Given the description of an element on the screen output the (x, y) to click on. 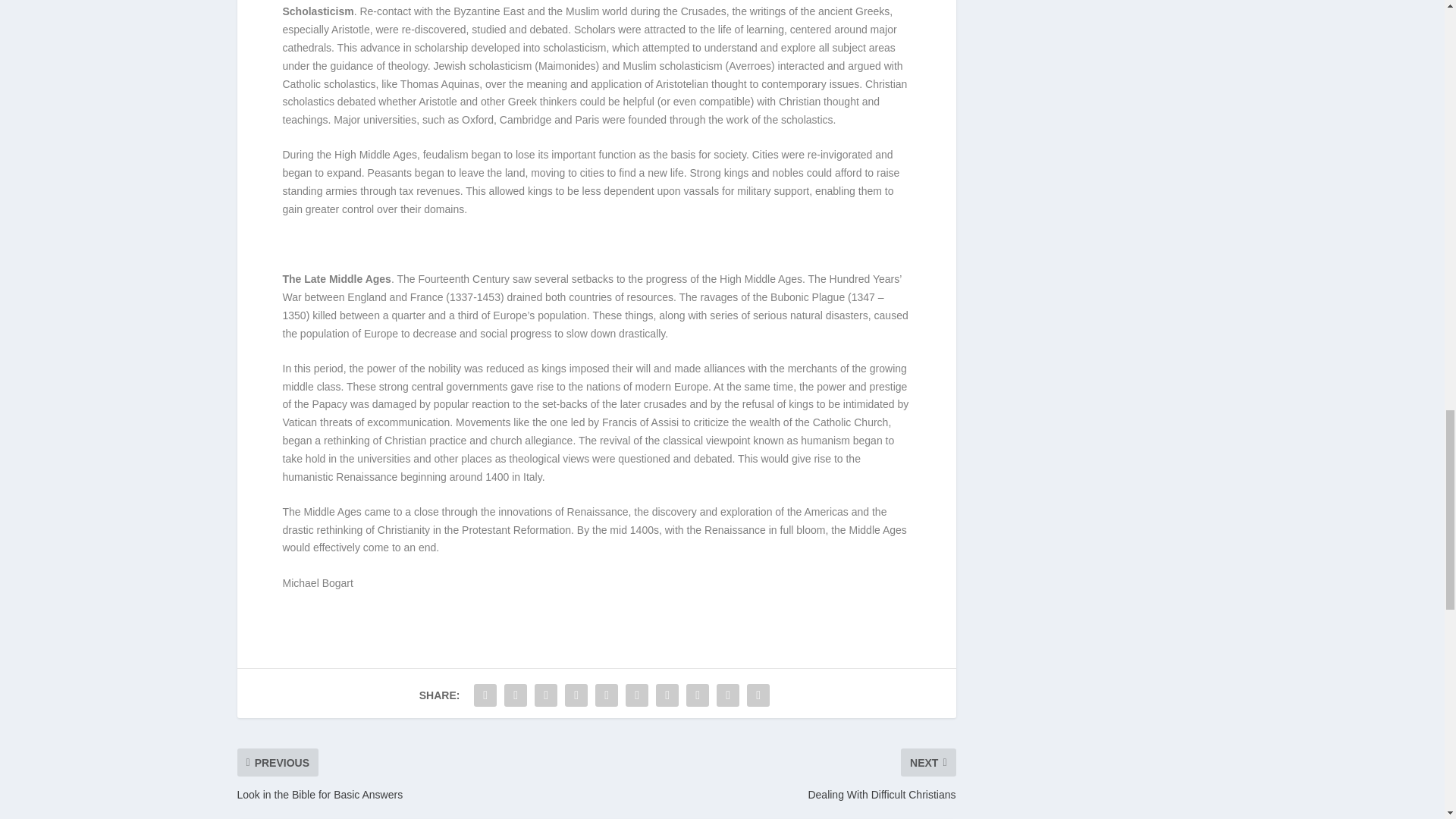
Share "A Brief Summary of the Middle Ages" via Stumbleupon (697, 695)
Share "A Brief Summary of the Middle Ages" via Tumblr (575, 695)
Share "A Brief Summary of the Middle Ages" via Twitter (515, 695)
Share "A Brief Summary of the Middle Ages" via Pinterest (606, 695)
Share "A Brief Summary of the Middle Ages" via Facebook (485, 695)
Share "A Brief Summary of the Middle Ages" via LinkedIn (636, 695)
Share "A Brief Summary of the Middle Ages" via Buffer (667, 695)
